Given the description of an element on the screen output the (x, y) to click on. 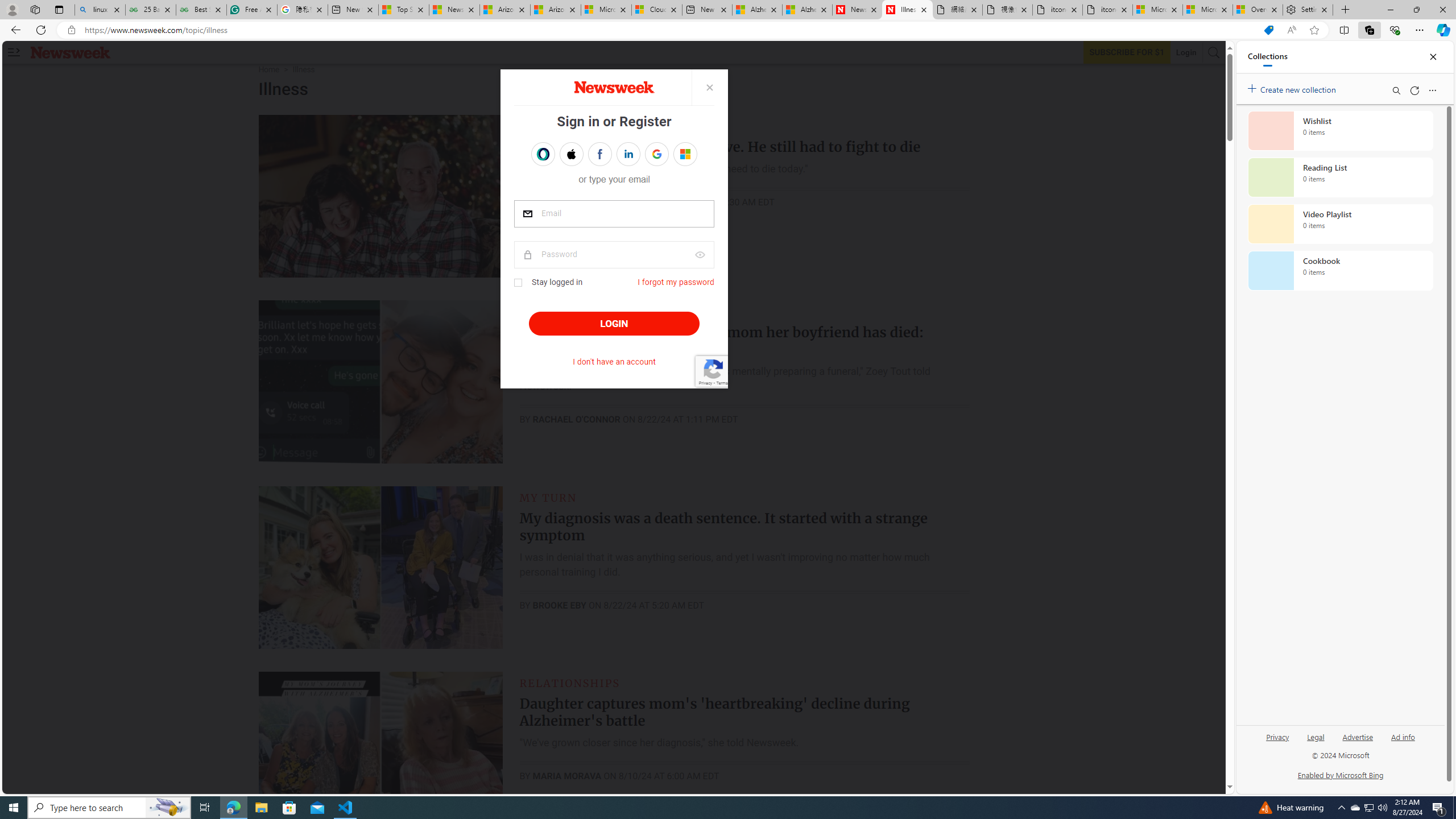
ON THE INTERNET (576, 312)
Reading List collection, 0 items (1339, 177)
25 Basic Linux Commands For Beginners - GeeksforGeeks (150, 9)
Class: checkbox (517, 282)
itconcepthk.com/projector_solutions.mp4 (1107, 9)
Eugene (677, 153)
